Given the description of an element on the screen output the (x, y) to click on. 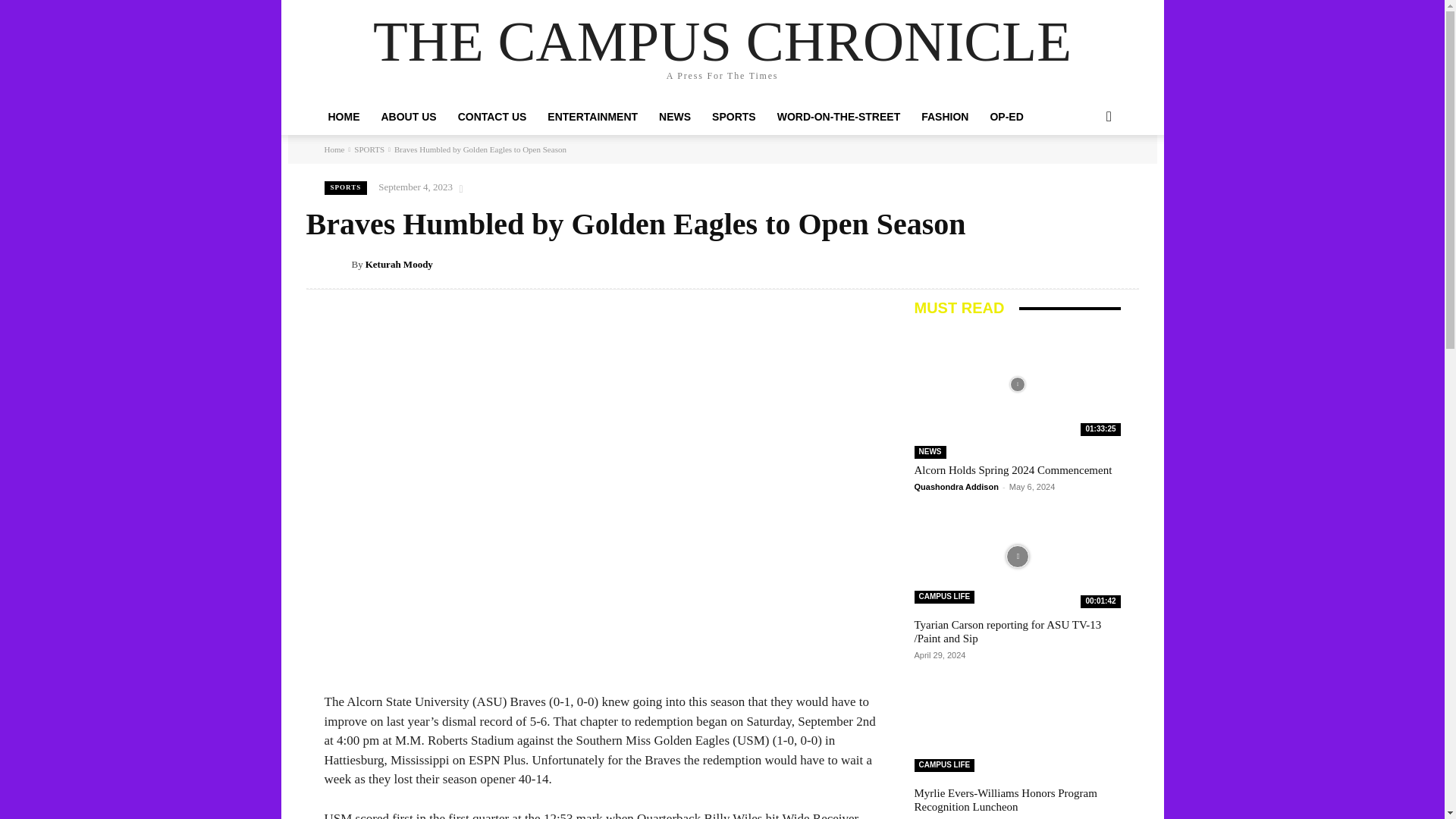
THE CAMPUS CHRONICLE (721, 41)
CONTACT US (491, 116)
ABOUT US (407, 116)
Keturah Moody (338, 264)
ENTERTAINMENT (592, 116)
View all posts in SPORTS (368, 148)
NEWS (674, 116)
HOME (343, 116)
